Given the description of an element on the screen output the (x, y) to click on. 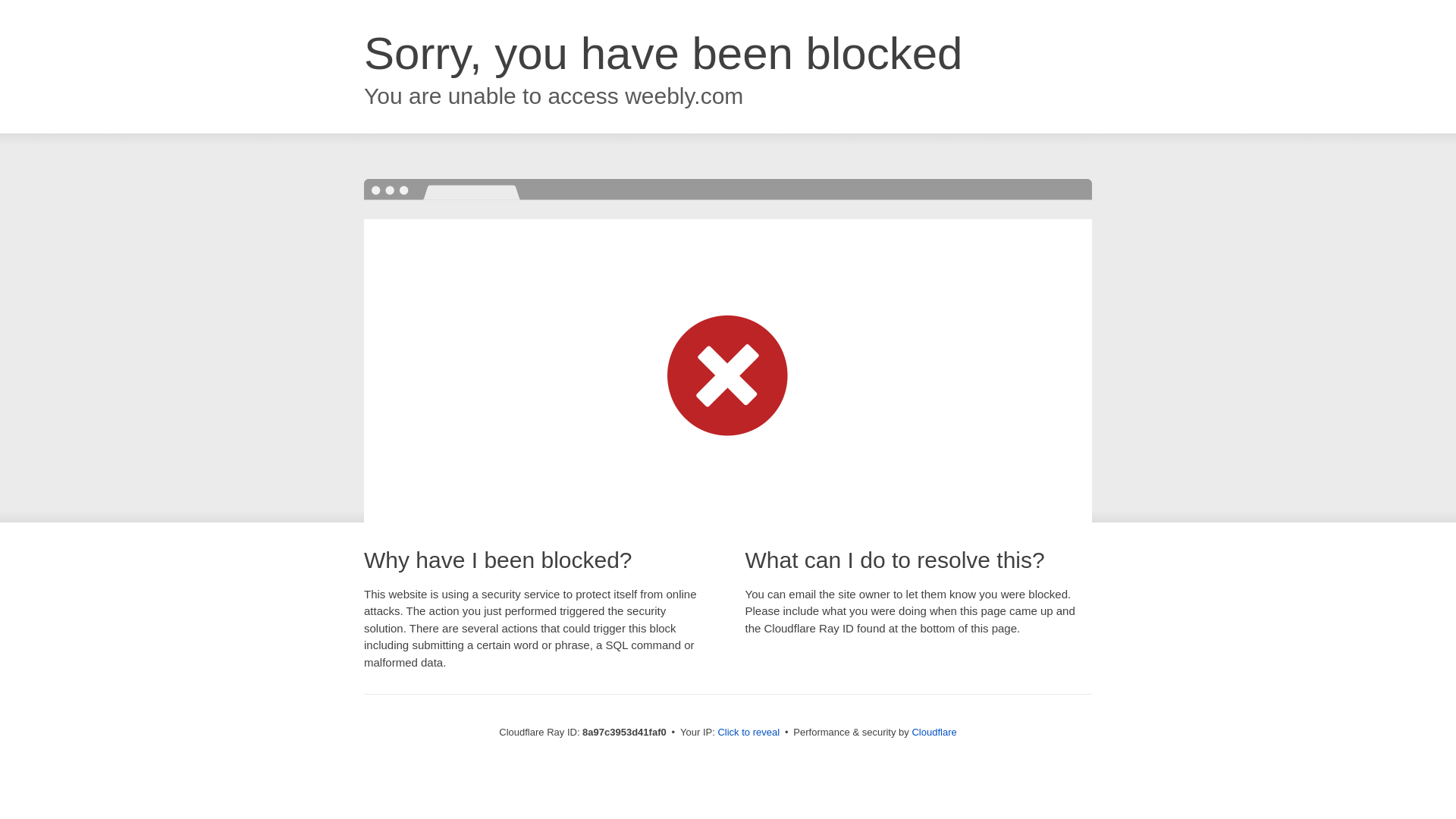
Click to reveal (747, 732)
Cloudflare (933, 731)
